Given the description of an element on the screen output the (x, y) to click on. 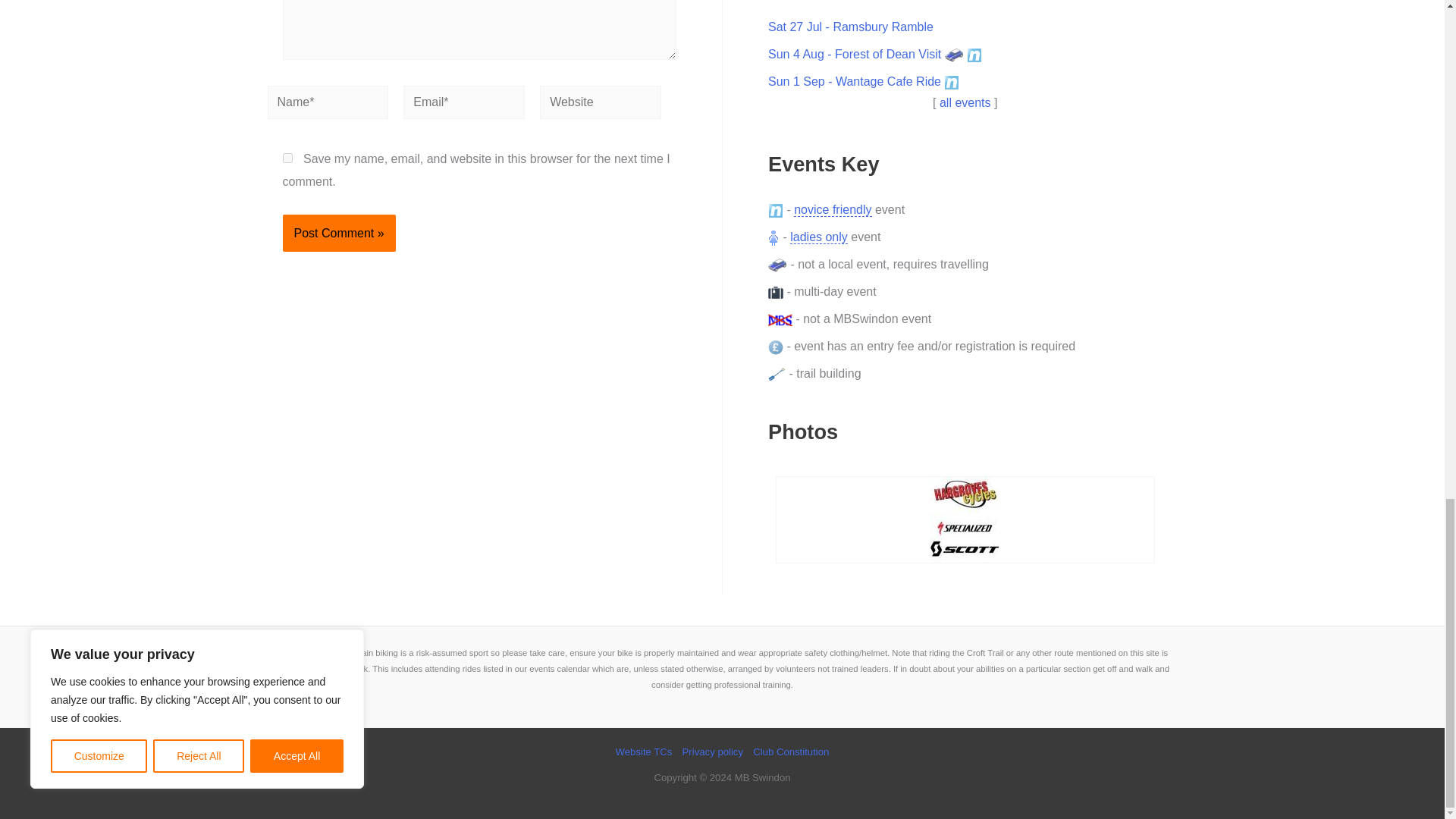
Not a local event (953, 55)
yes (287, 157)
Not a local event (777, 264)
Novice friendly event (951, 82)
Novice friendly event (973, 55)
Novice friendly (775, 210)
